Given the description of an element on the screen output the (x, y) to click on. 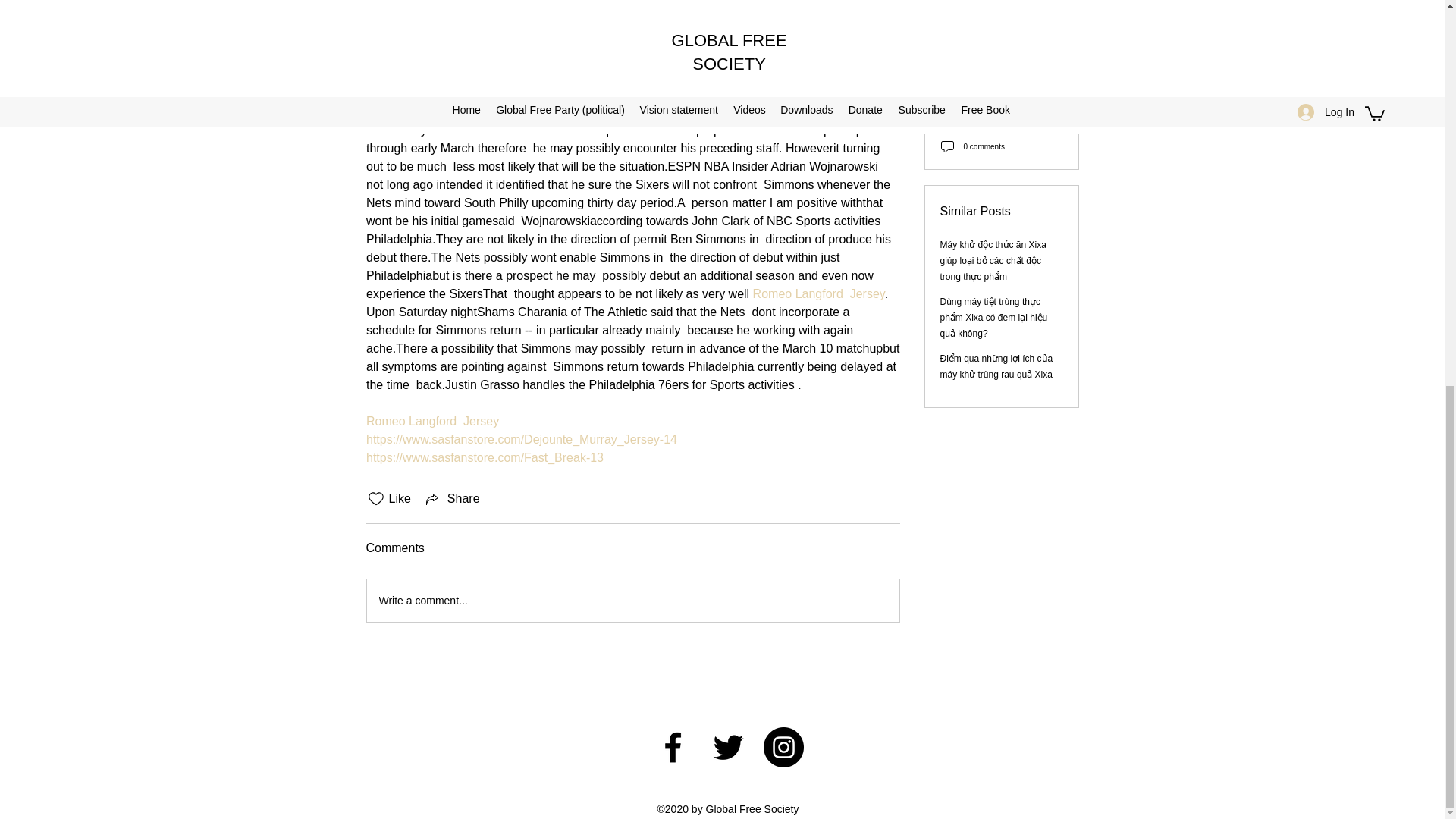
Write a comment... (632, 600)
Romeo Langford  Jersey (431, 420)
Share (451, 498)
Romeo Langford  Jersey (817, 293)
